Given the description of an element on the screen output the (x, y) to click on. 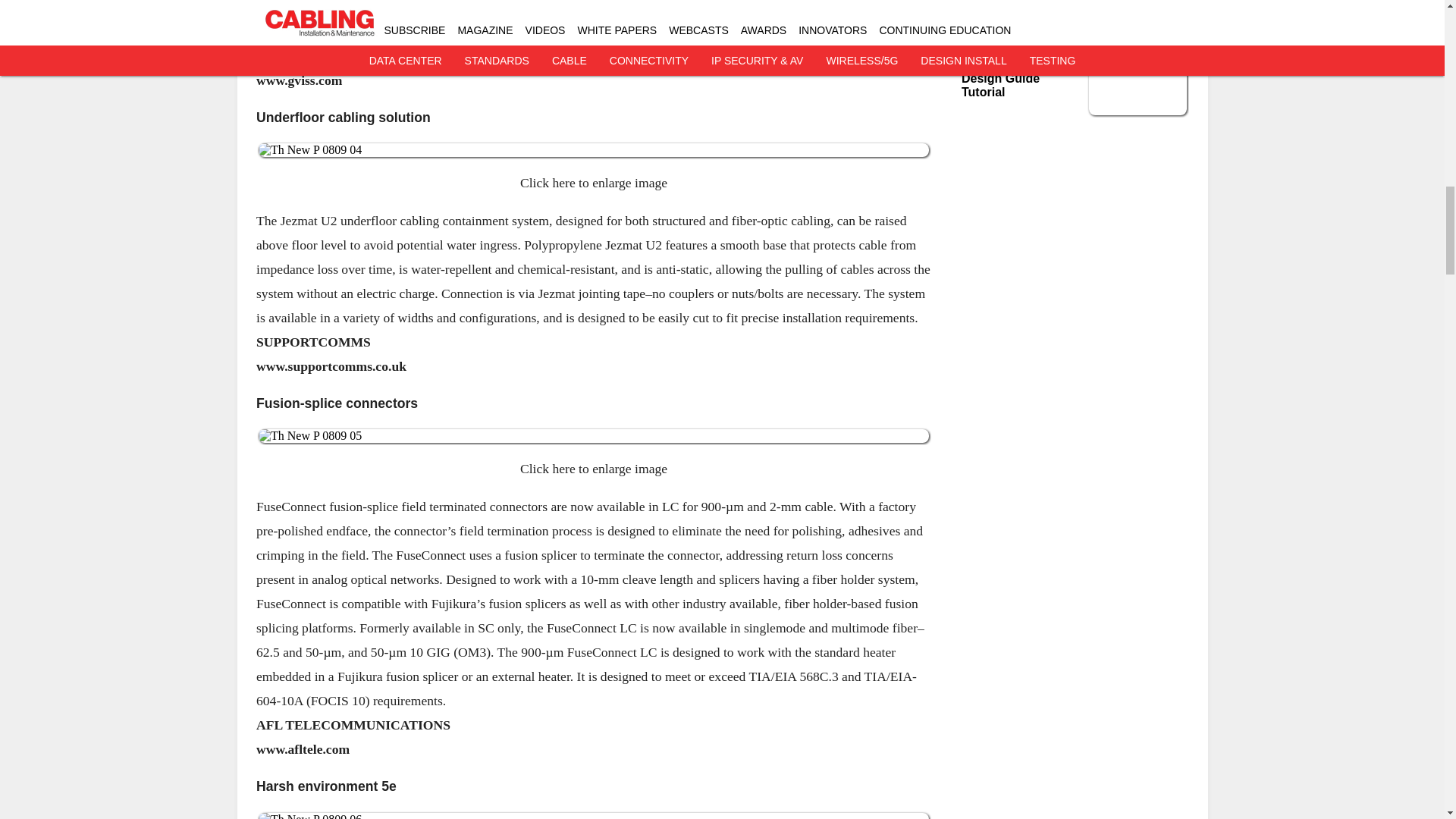
Th New P 0809 04 (592, 150)
Th New P 0809 05 (592, 436)
